Given the description of an element on the screen output the (x, y) to click on. 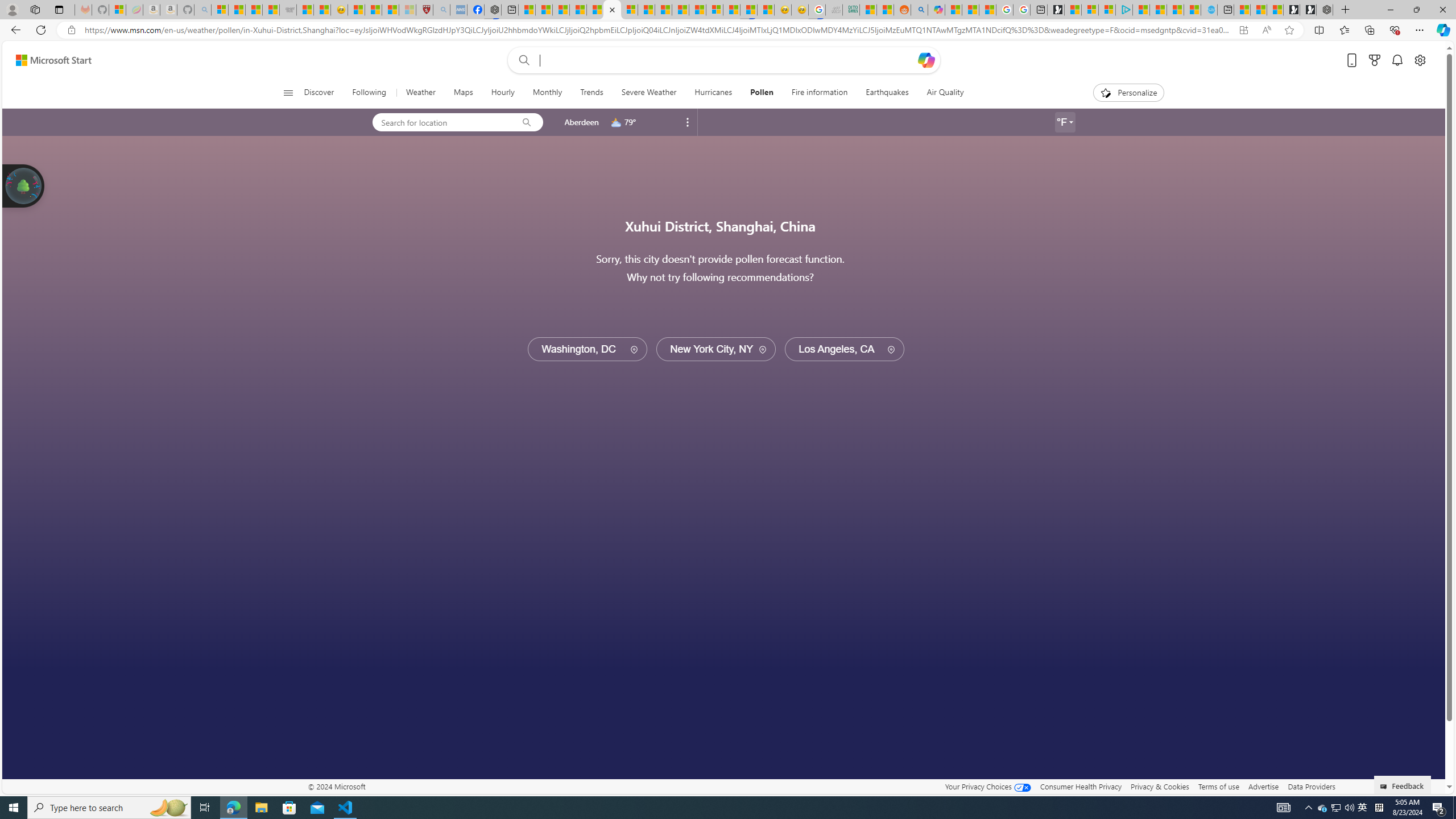
Maps (462, 92)
Pollen (761, 92)
